Given the description of an element on the screen output the (x, y) to click on. 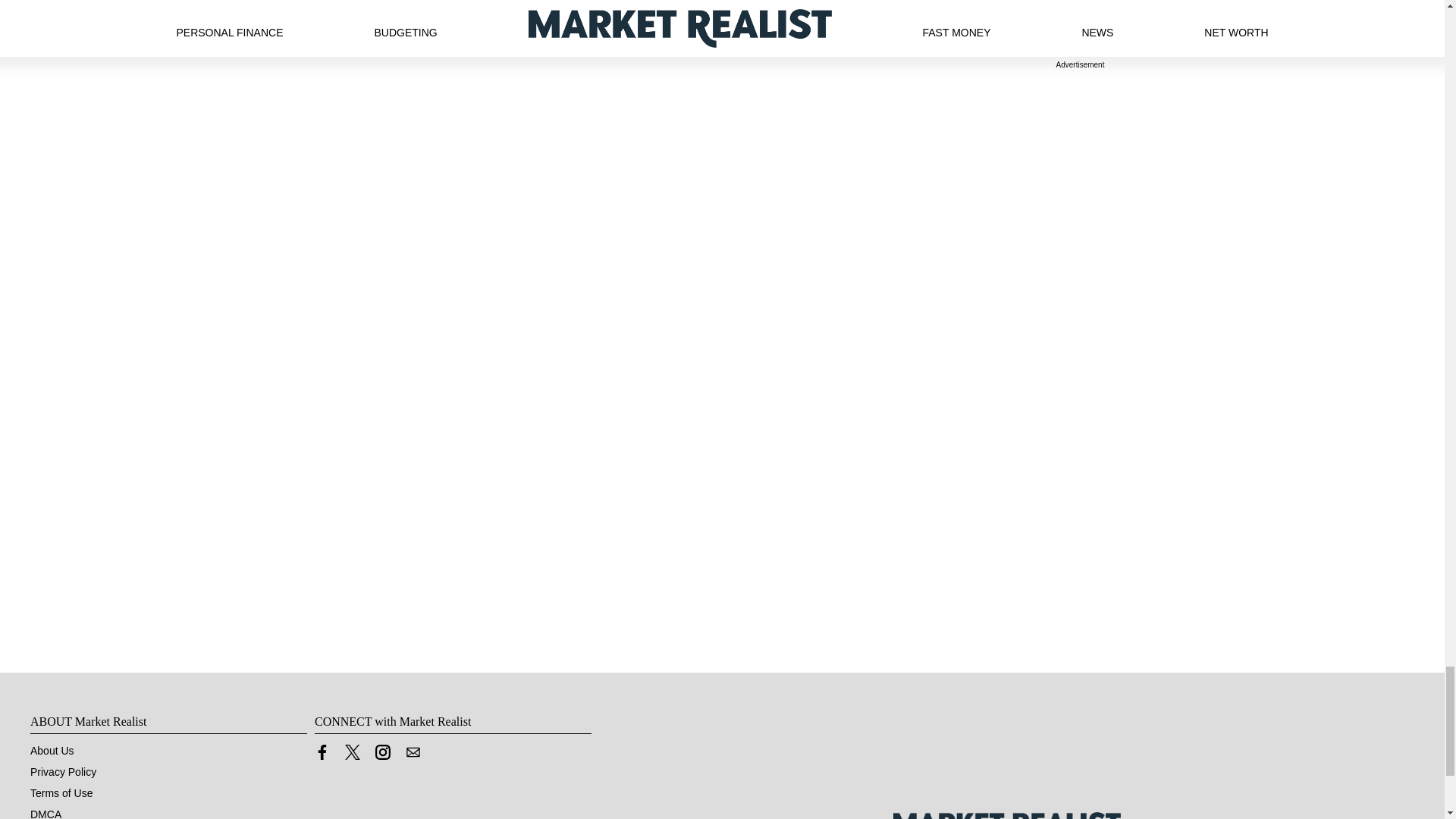
Link to X (352, 752)
Terms of Use (61, 793)
Link to Facebook (322, 752)
Privacy Policy (63, 771)
About Us (52, 750)
Link to Instagram (382, 756)
Link to X (352, 756)
DMCA (45, 813)
Terms of Use (61, 793)
Link to Instagram (382, 752)
